Given the description of an element on the screen output the (x, y) to click on. 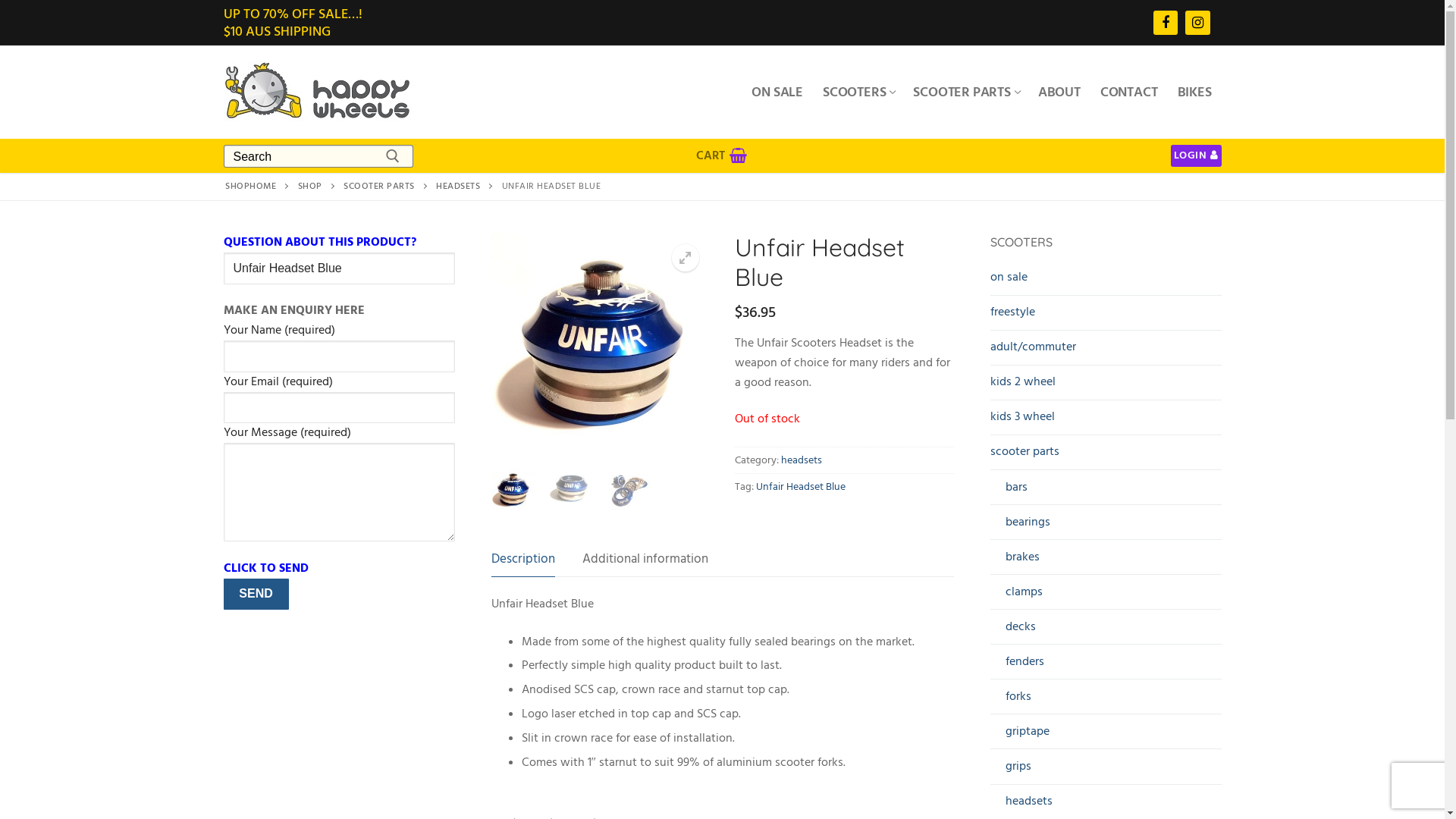
on sale Element type: text (1105, 280)
ABOUT Element type: text (1059, 91)
fenders Element type: text (1105, 665)
Additional information Element type: text (645, 559)
Instagram Element type: hover (1197, 22)
bearings Element type: text (1105, 525)
kids 2 wheel Element type: text (1105, 385)
Facebook Element type: hover (1165, 22)
CONTACT Element type: text (1128, 91)
Description Element type: text (523, 559)
HEADSETS Element type: text (458, 186)
SCOOTER PARTS
  Element type: text (965, 91)
forks Element type: text (1105, 700)
BIKES Element type: text (1194, 91)
unfair-headset-blue Element type: hover (600, 342)
bars Element type: text (1105, 491)
scooter parts Element type: text (1105, 455)
adult/commuter Element type: text (1105, 350)
Send Element type: text (255, 594)
brakes Element type: text (1105, 560)
SHOP Element type: text (310, 186)
clamps Element type: text (1105, 595)
griptape Element type: text (1105, 735)
decks Element type: text (1105, 630)
Search for: Element type: hover (318, 156)
kids 3 wheel Element type: text (1105, 420)
CART Element type: text (722, 155)
SCOOTERS
  Element type: text (857, 91)
LOGIN Element type: text (1195, 155)
ON SALE Element type: text (776, 91)
headsets Element type: text (801, 459)
SHOPHOME Element type: text (250, 186)
freestyle Element type: text (1105, 315)
Unfair Headset Blue Element type: text (799, 486)
grips Element type: text (1105, 770)
SCOOTER PARTS Element type: text (378, 186)
